Given the description of an element on the screen output the (x, y) to click on. 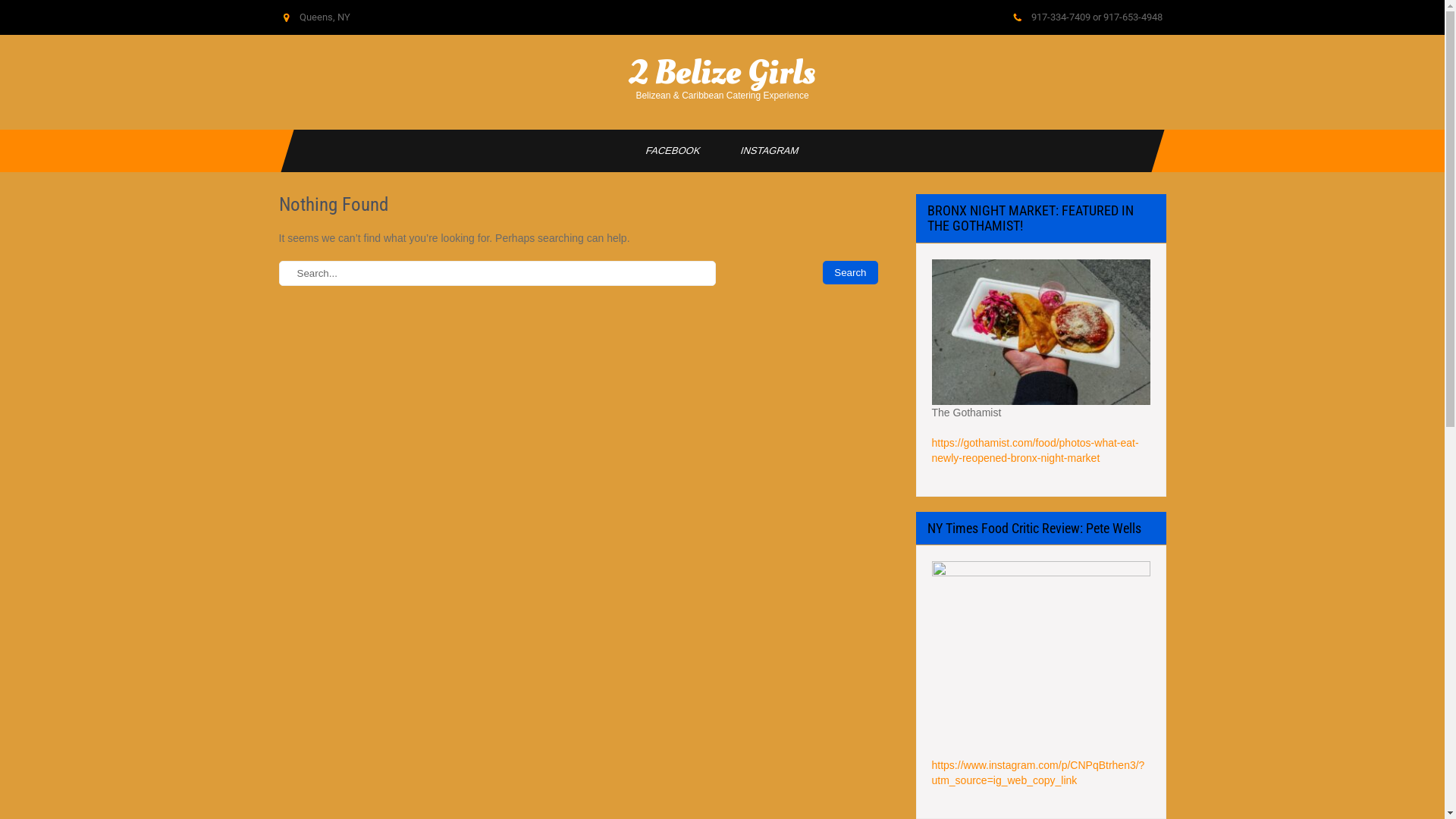
FACEBOOK Element type: text (666, 150)
INSTAGRAM Element type: text (762, 150)
Search Element type: text (849, 272)
2 Belize Girls
Belizean & Caribbean Catering Experience Element type: text (722, 82)
